Given the description of an element on the screen output the (x, y) to click on. 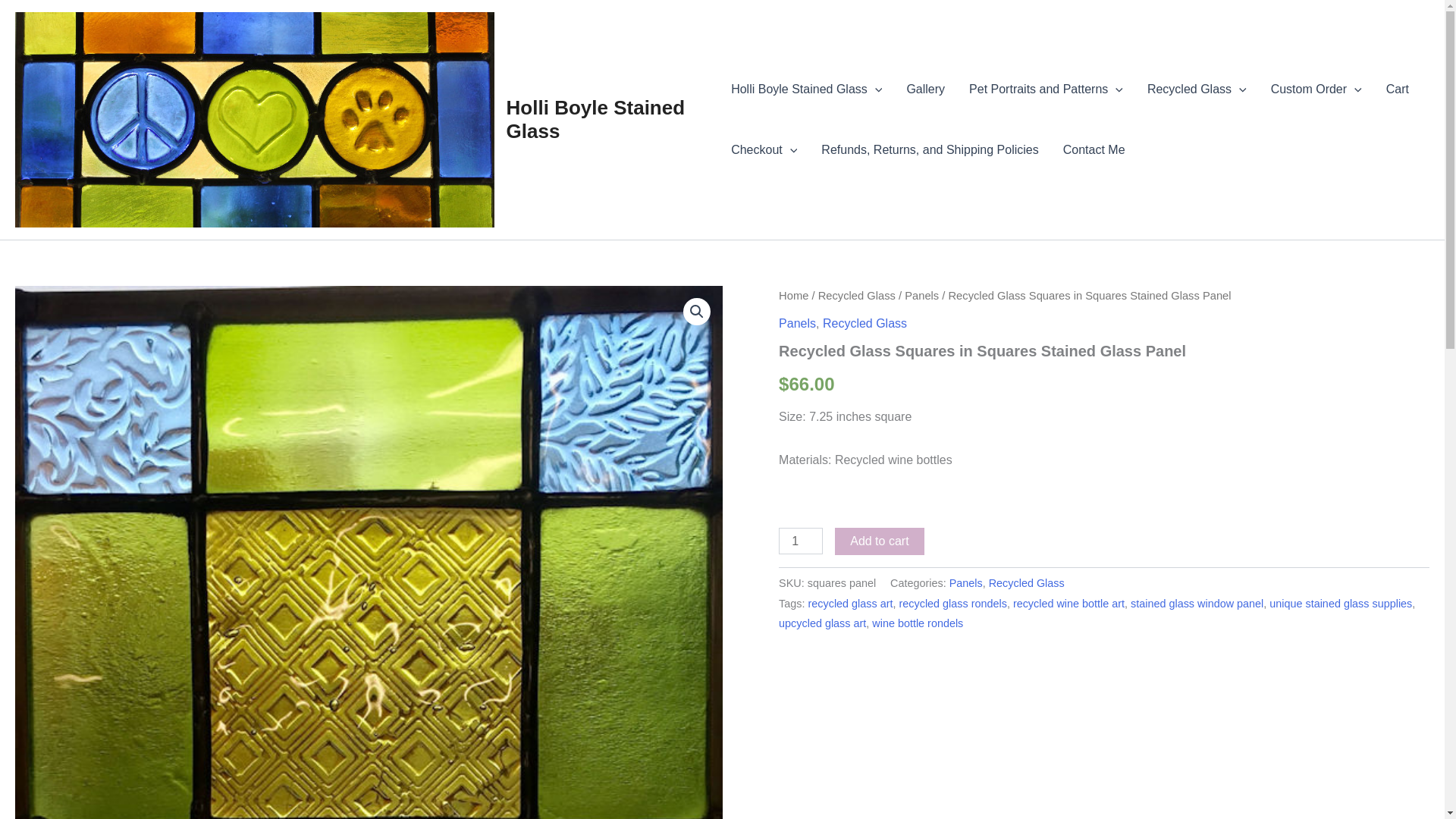
Gallery (924, 88)
Custom Order (1316, 88)
Contact Me (1094, 149)
Holli Boyle Stained Glass (806, 88)
Holli Boyle Stained Glass (595, 119)
Checkout (764, 149)
Pet Portraits and Patterns (1045, 88)
Recycled Glass (1197, 88)
1 (800, 541)
Refunds, Returns, and Shipping Policies (929, 149)
